Given the description of an element on the screen output the (x, y) to click on. 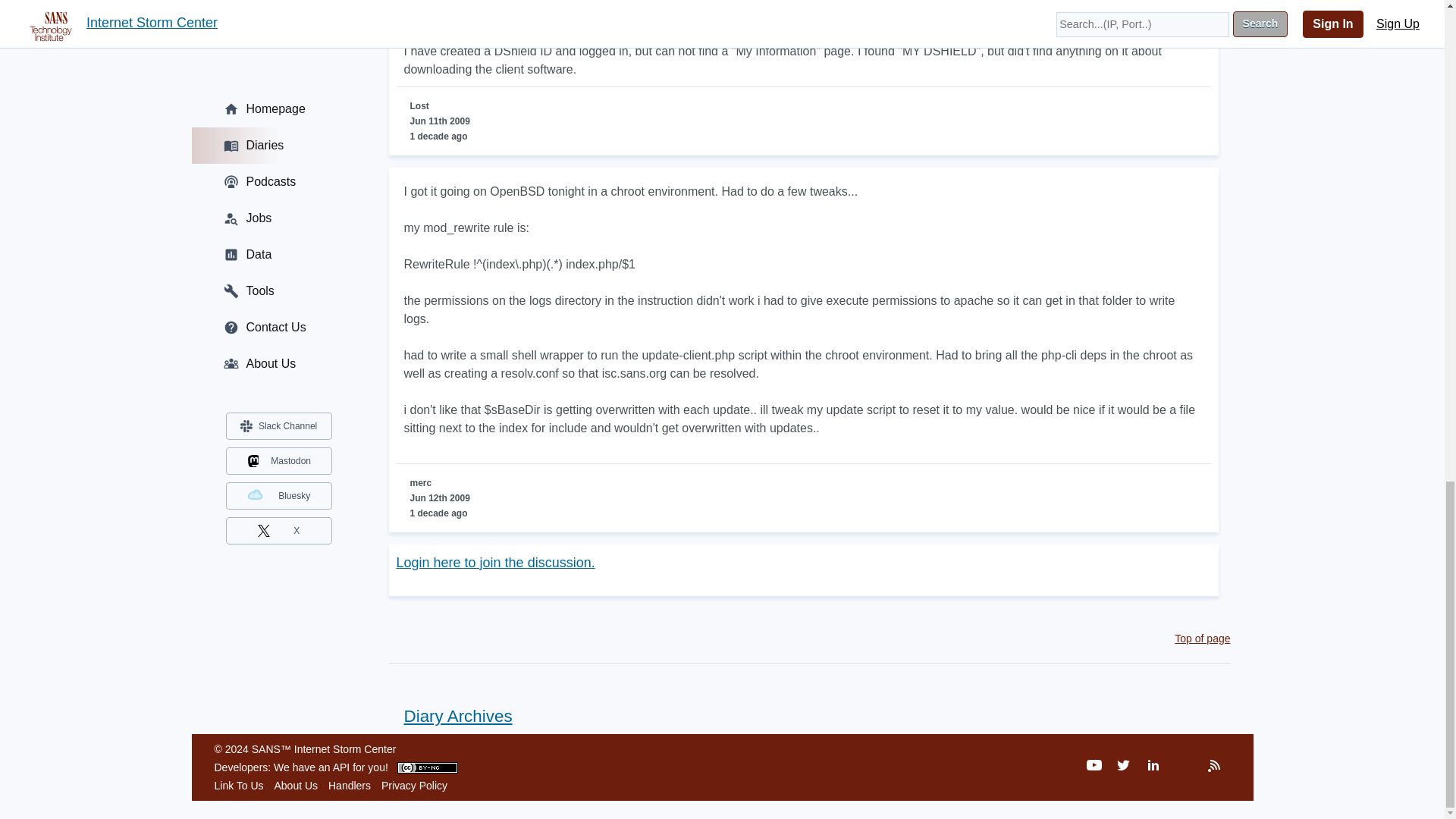
Top of page (1202, 638)
Login here to join the discussion. (495, 562)
Diary Archives (450, 715)
